Given the description of an element on the screen output the (x, y) to click on. 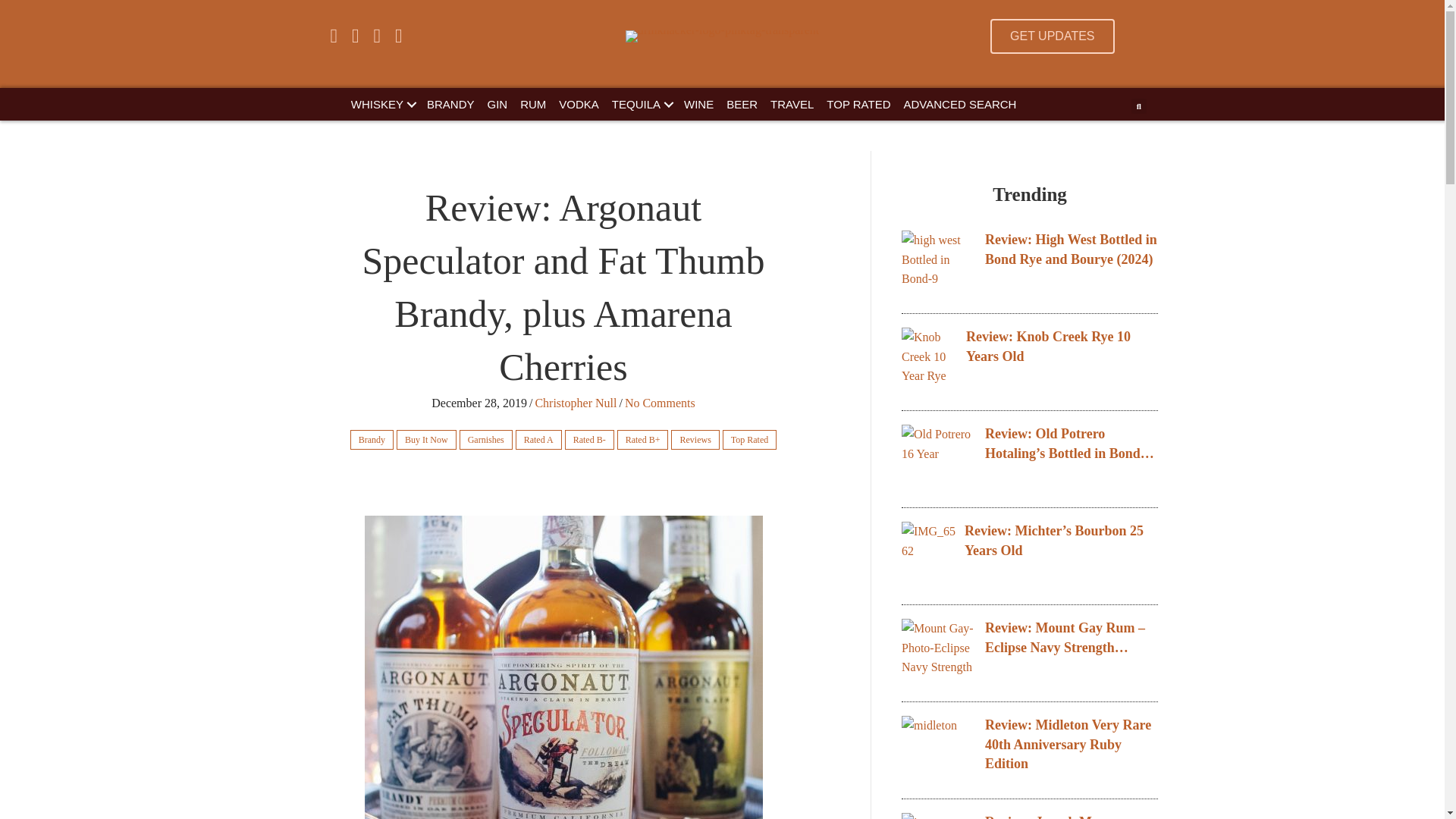
TRAVEL (791, 103)
TOP RATED (858, 103)
WINE (698, 103)
GET UPDATES (1051, 36)
drinkhacker-logo-pinktag-transparent (722, 36)
Submit (739, 308)
WHISKEY (382, 103)
BRANDY (450, 103)
VODKA (579, 103)
RUM (532, 103)
ADVANCED SEARCH (960, 103)
GIN (496, 103)
BEER (741, 103)
TEQUILA (641, 103)
